Given the description of an element on the screen output the (x, y) to click on. 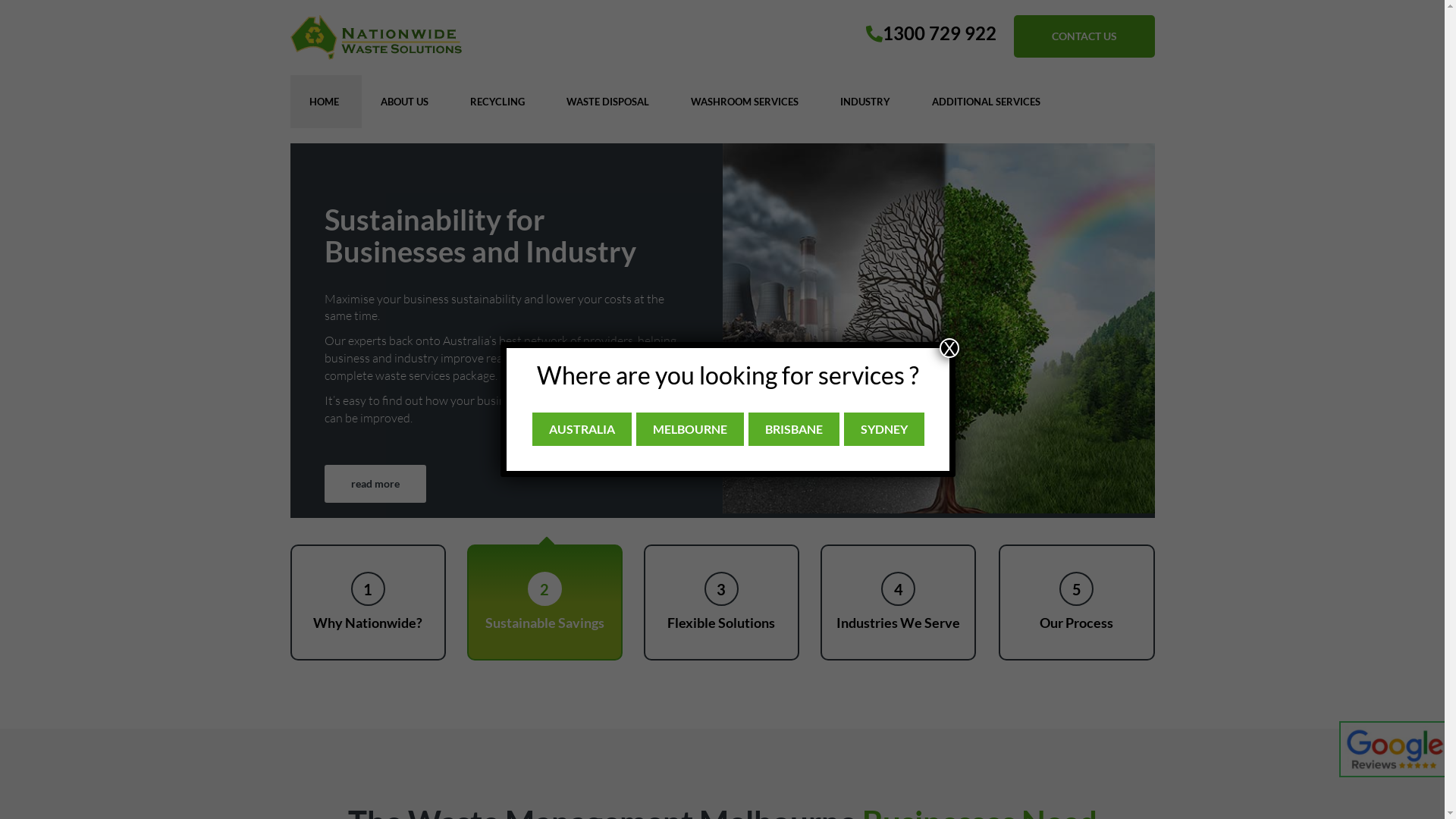
ADDITIONAL SERVICES Element type: text (986, 101)
1300 729 922 Element type: text (931, 32)
read more Element type: text (375, 507)
HOME Element type: text (323, 101)
WASTE DISPOSAL Element type: text (607, 101)
X Element type: text (949, 347)
ABOUT US Element type: text (403, 101)
Nationwide Waste Management Services Element type: hover (375, 37)
CONTACT US Element type: text (1083, 36)
INDUSTRY Element type: text (864, 101)
RECYCLING Element type: text (496, 101)
WASHROOM SERVICES Element type: text (744, 101)
